Given the description of an element on the screen output the (x, y) to click on. 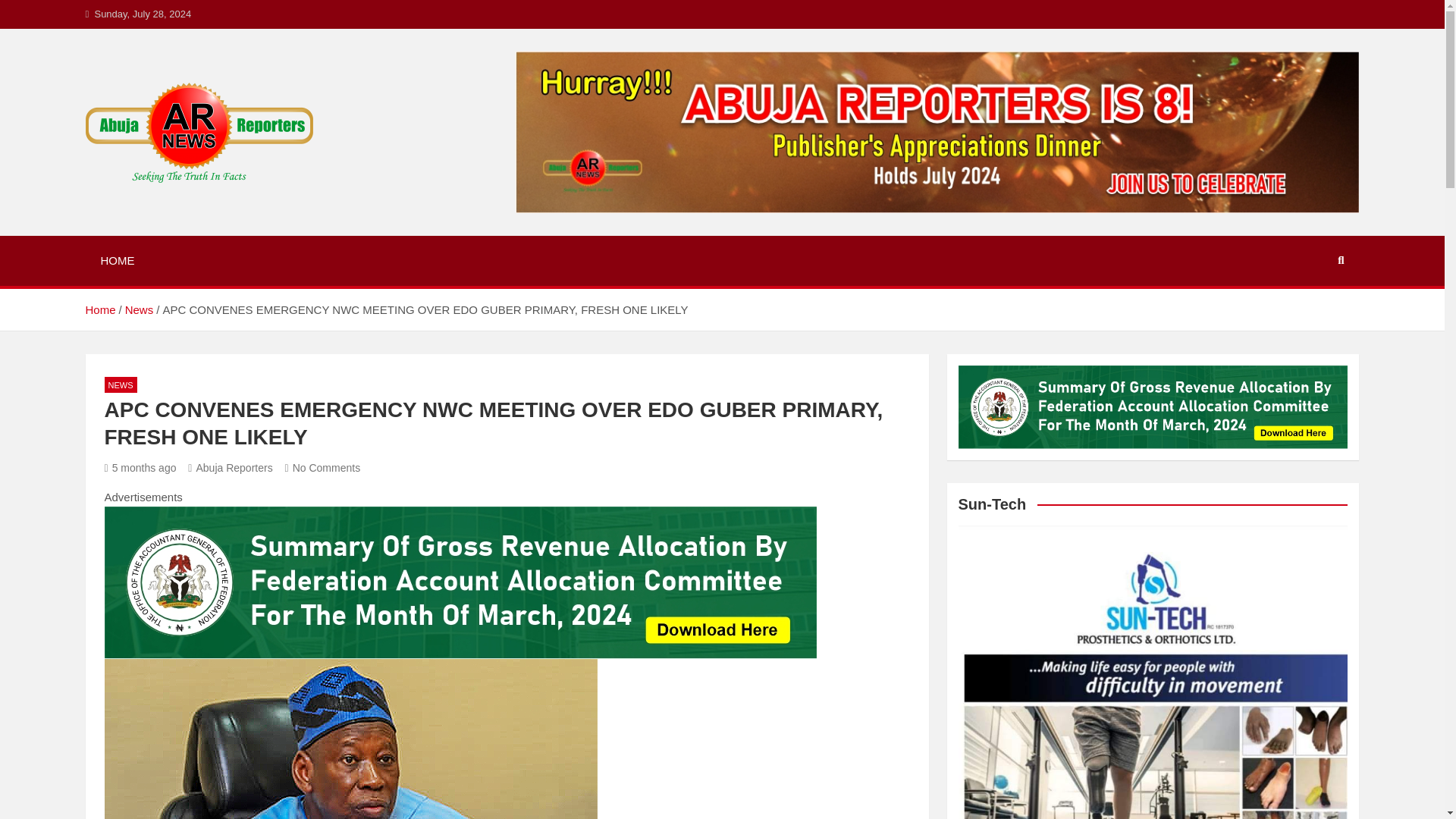
NEWS (120, 384)
News (139, 309)
HOME (116, 260)
Abuja Reporters (229, 467)
No Comments (323, 467)
Home (99, 309)
Sun-Tech (1153, 672)
Abuja Reporters (202, 202)
5 months ago (140, 467)
